Given the description of an element on the screen output the (x, y) to click on. 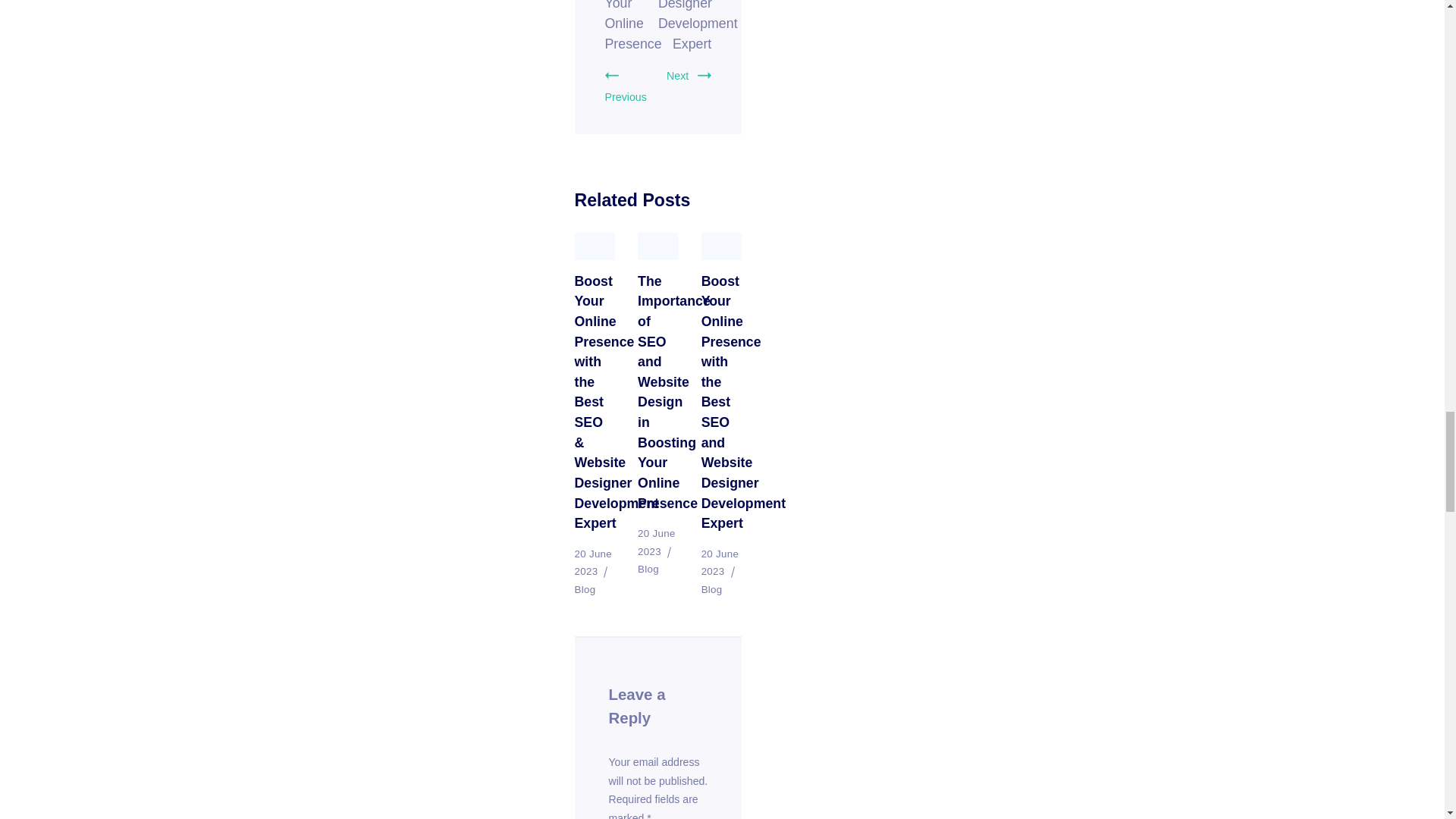
Next (688, 75)
Blog (585, 589)
Previous (625, 86)
